Given the description of an element on the screen output the (x, y) to click on. 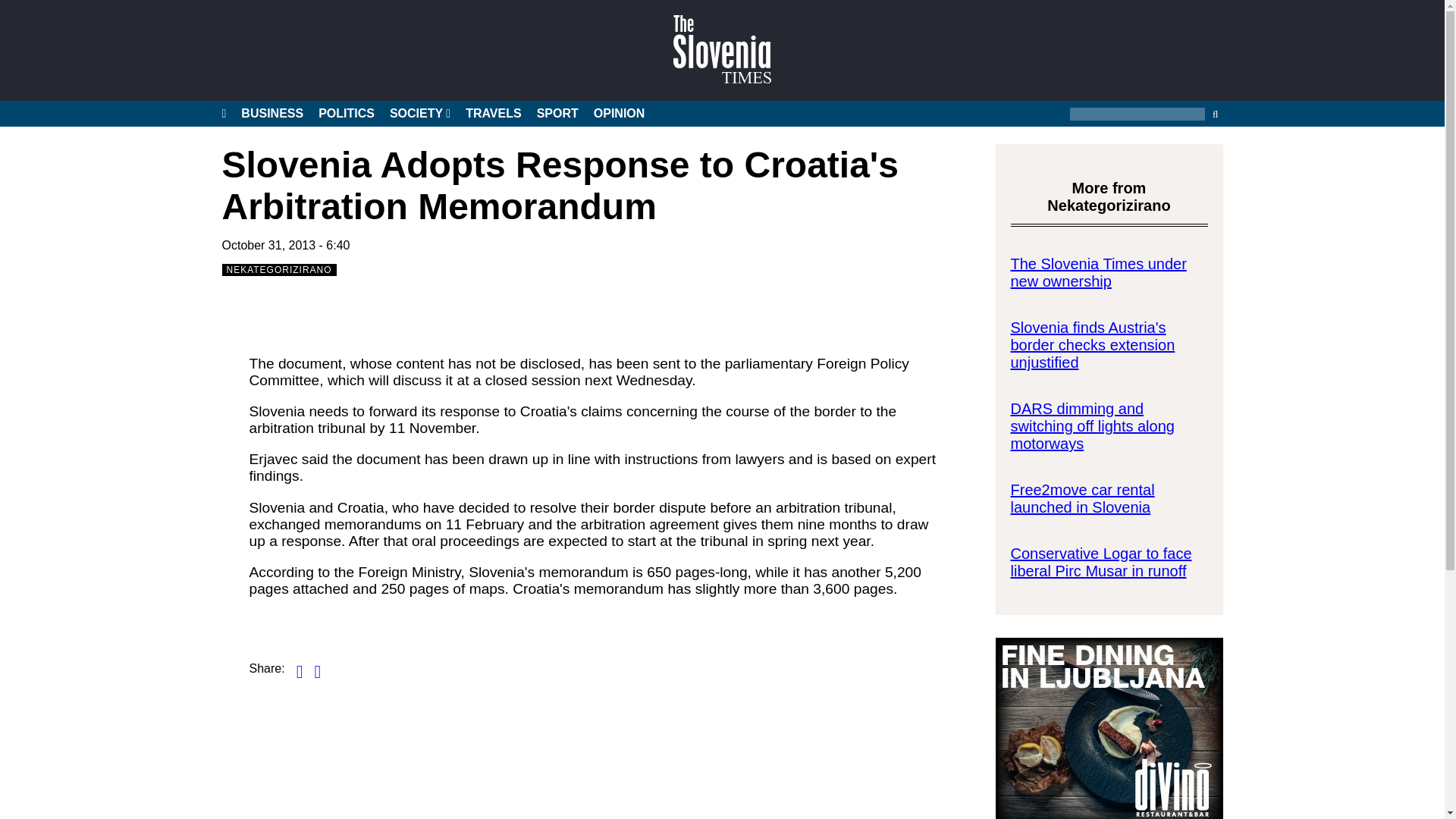
Slovenia finds Austria's border checks extension unjustified (1092, 345)
SPORT (557, 113)
BUSINESS (271, 113)
Free2move car rental launched in Slovenia (1082, 498)
DARS dimming and switching off lights along motorways (1091, 426)
OPINION (619, 113)
The Slovenia Times under new ownership (1098, 272)
POLITICS (346, 113)
Conservative Logar to face liberal Pirc Musar in runoff (1100, 562)
TRAVELS (493, 113)
